Given the description of an element on the screen output the (x, y) to click on. 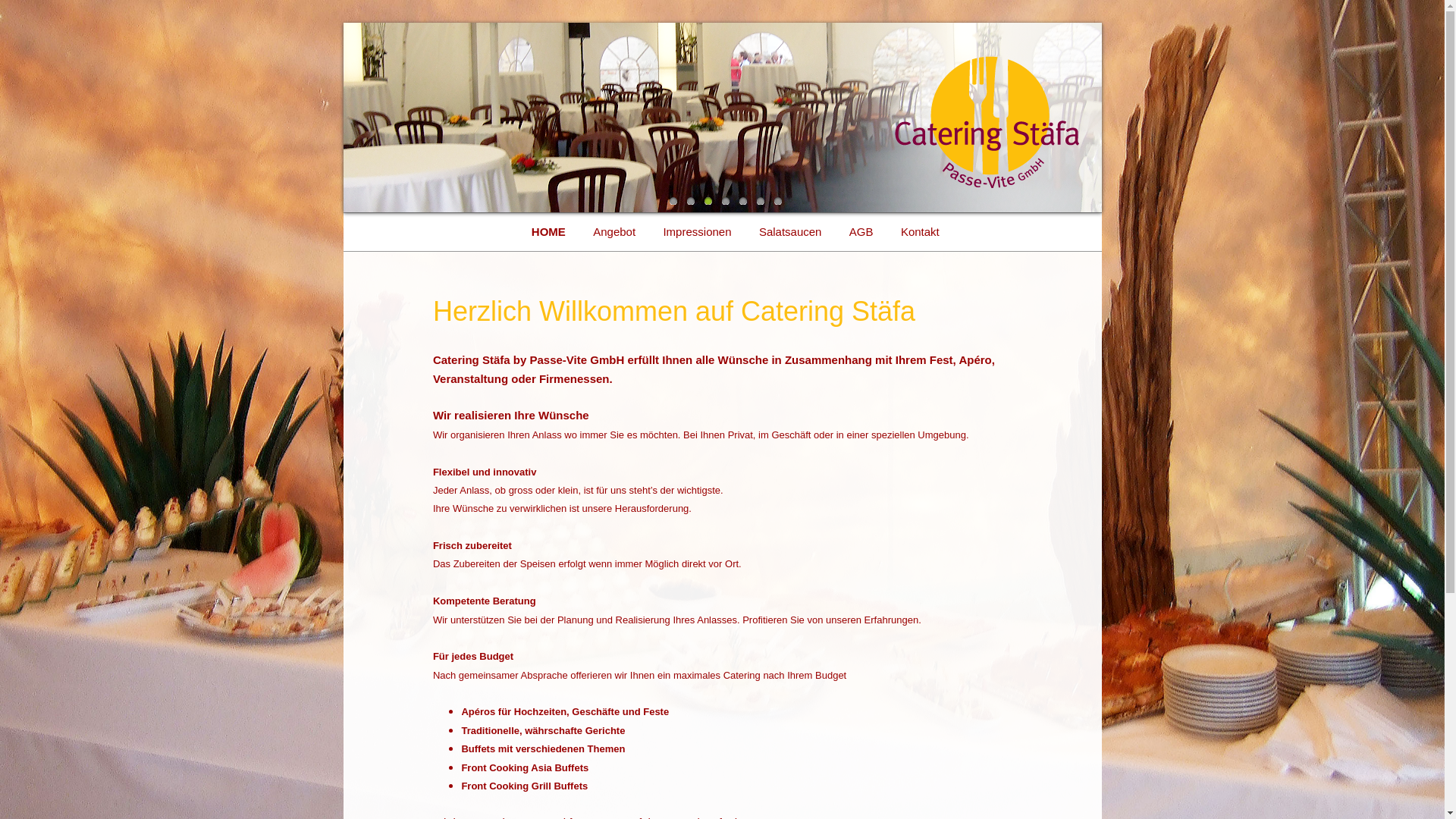
AGB Element type: text (861, 232)
4 Element type: text (729, 200)
Salatsaucen Element type: text (790, 232)
5 Element type: text (745, 200)
Angebot Element type: text (614, 232)
Zum Inhalt wechseln Element type: text (592, 232)
Kontakt Element type: text (920, 232)
2 Element type: text (694, 200)
Impressionen Element type: text (696, 232)
HOME Element type: text (548, 232)
7 Element type: text (780, 200)
1 Element type: text (676, 200)
6 Element type: text (763, 200)
3 Element type: text (710, 200)
